Given the description of an element on the screen output the (x, y) to click on. 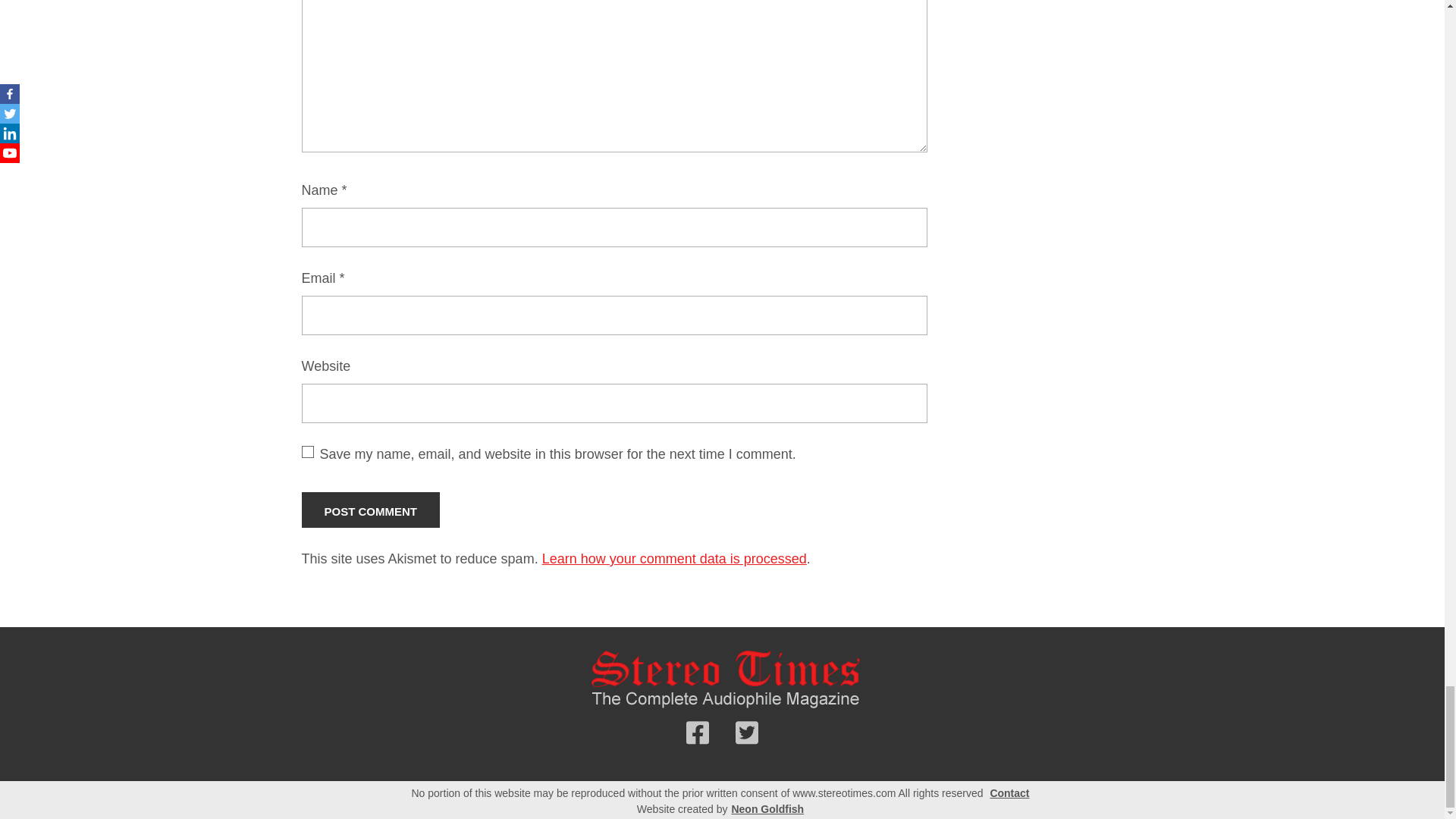
Post Comment (371, 509)
Neon Goldfish (767, 809)
Post Comment (371, 509)
Learn how your comment data is processed (673, 558)
Contact (1008, 792)
